Given the description of an element on the screen output the (x, y) to click on. 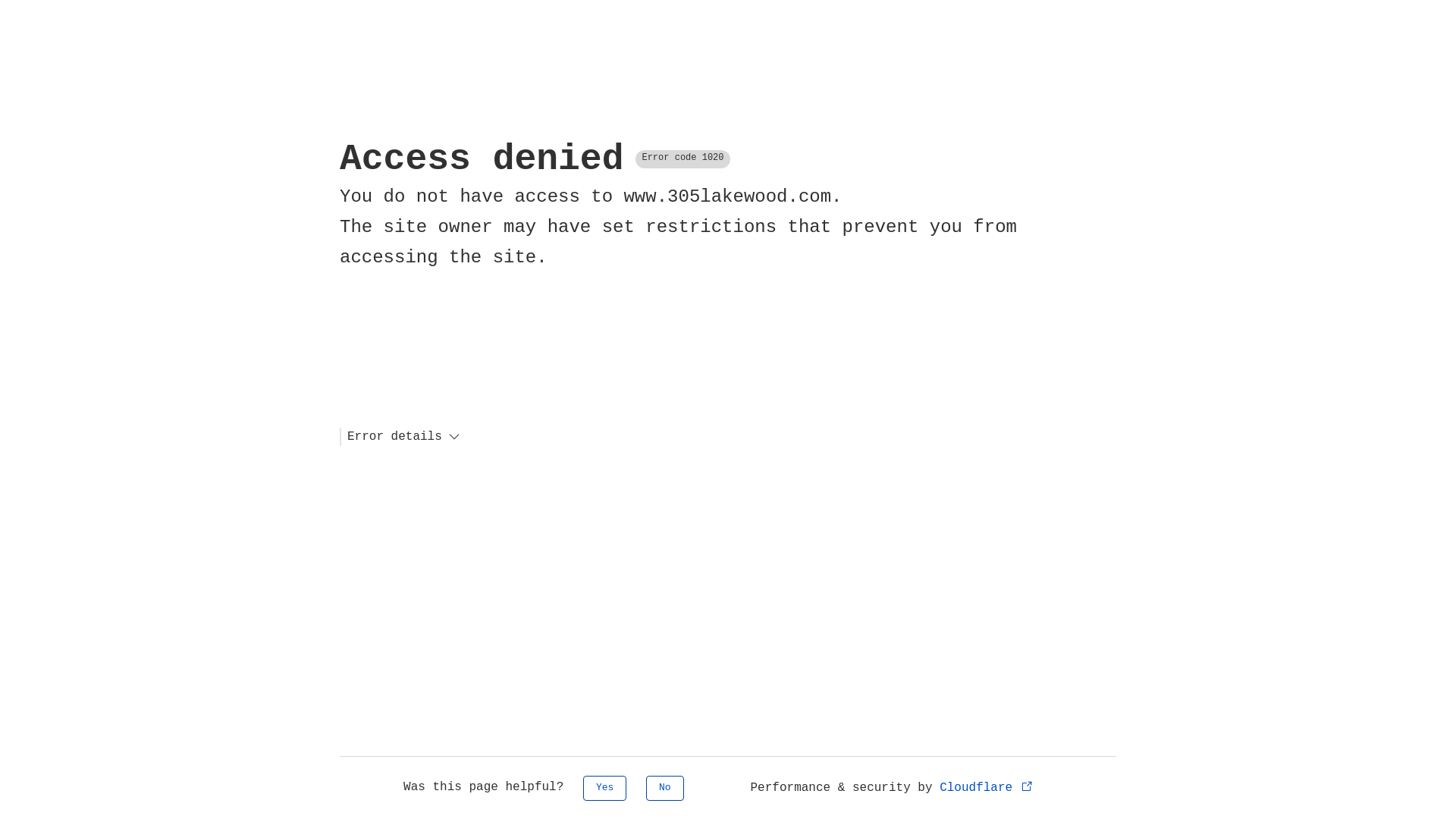
Cloudflare Element type: text (986, 787)
Opens in new tab Element type: hover (1027, 785)
Yes Element type: text (604, 787)
No Element type: text (665, 787)
